Given the description of an element on the screen output the (x, y) to click on. 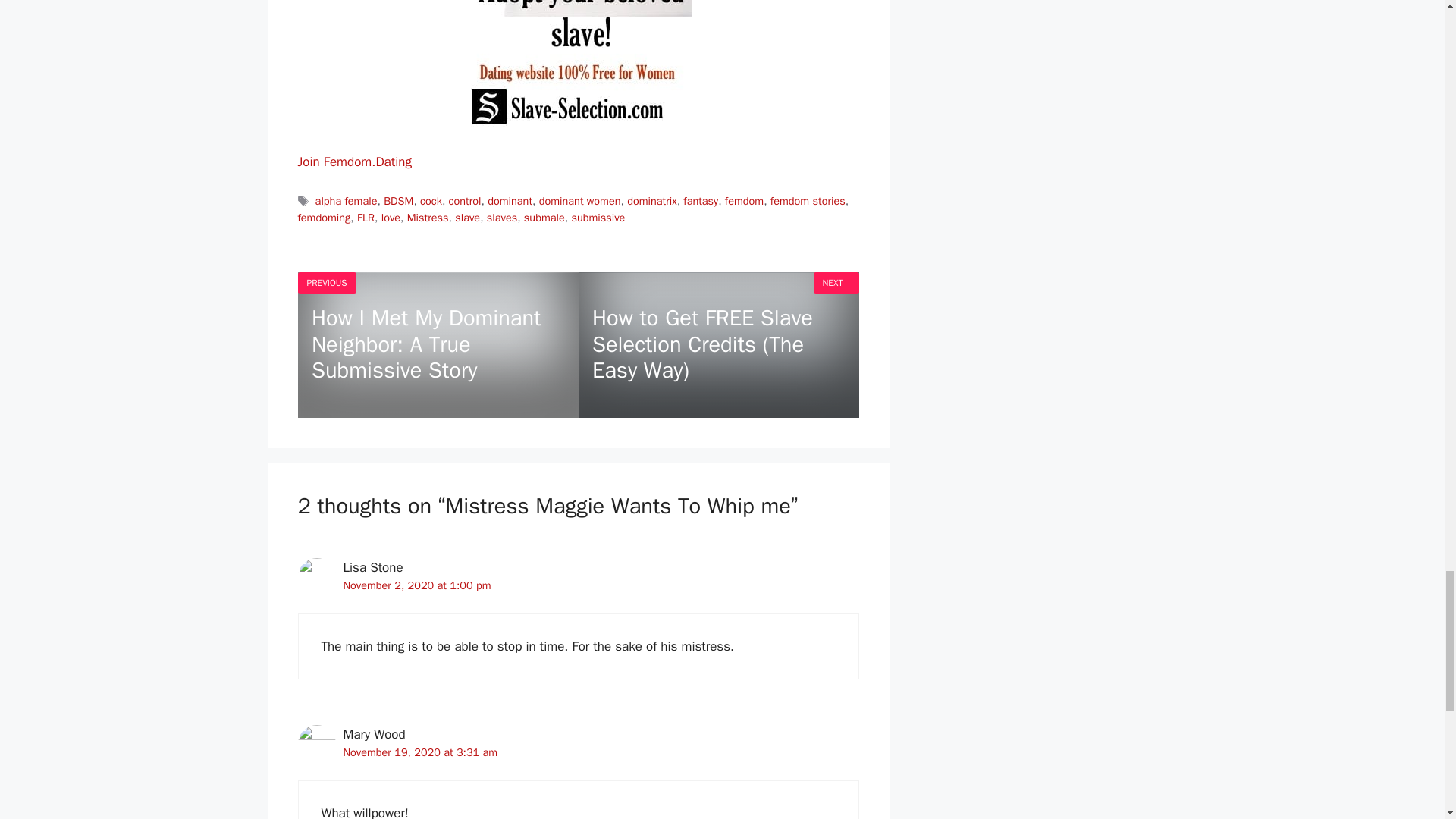
BDSM (398, 201)
dominant (509, 201)
alpha female (346, 201)
control (464, 201)
fantasy (699, 201)
Join Femdom.Dating (353, 161)
dominatrix (652, 201)
cock (431, 201)
dominant women (579, 201)
